Given the description of an element on the screen output the (x, y) to click on. 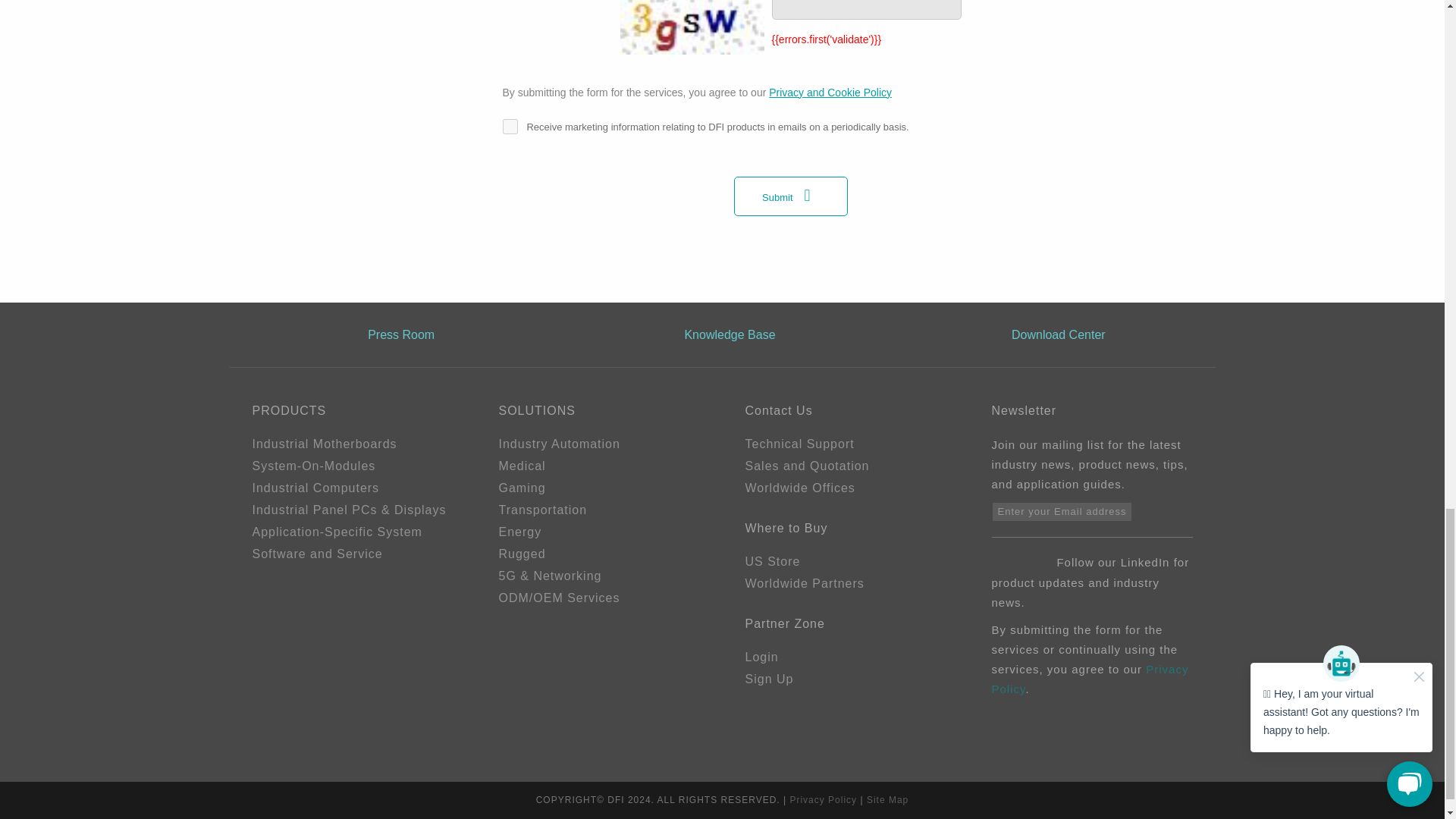
Industry Automation (599, 443)
Industrial Computers (351, 488)
Application-Specific System (351, 532)
on (509, 126)
Transportation (599, 510)
Rugged (599, 554)
Industrial Motherboards (351, 443)
Energy (599, 532)
Gaming (599, 488)
Medical (599, 466)
System-On-Modules (351, 466)
Software and Service (351, 554)
